Given the description of an element on the screen output the (x, y) to click on. 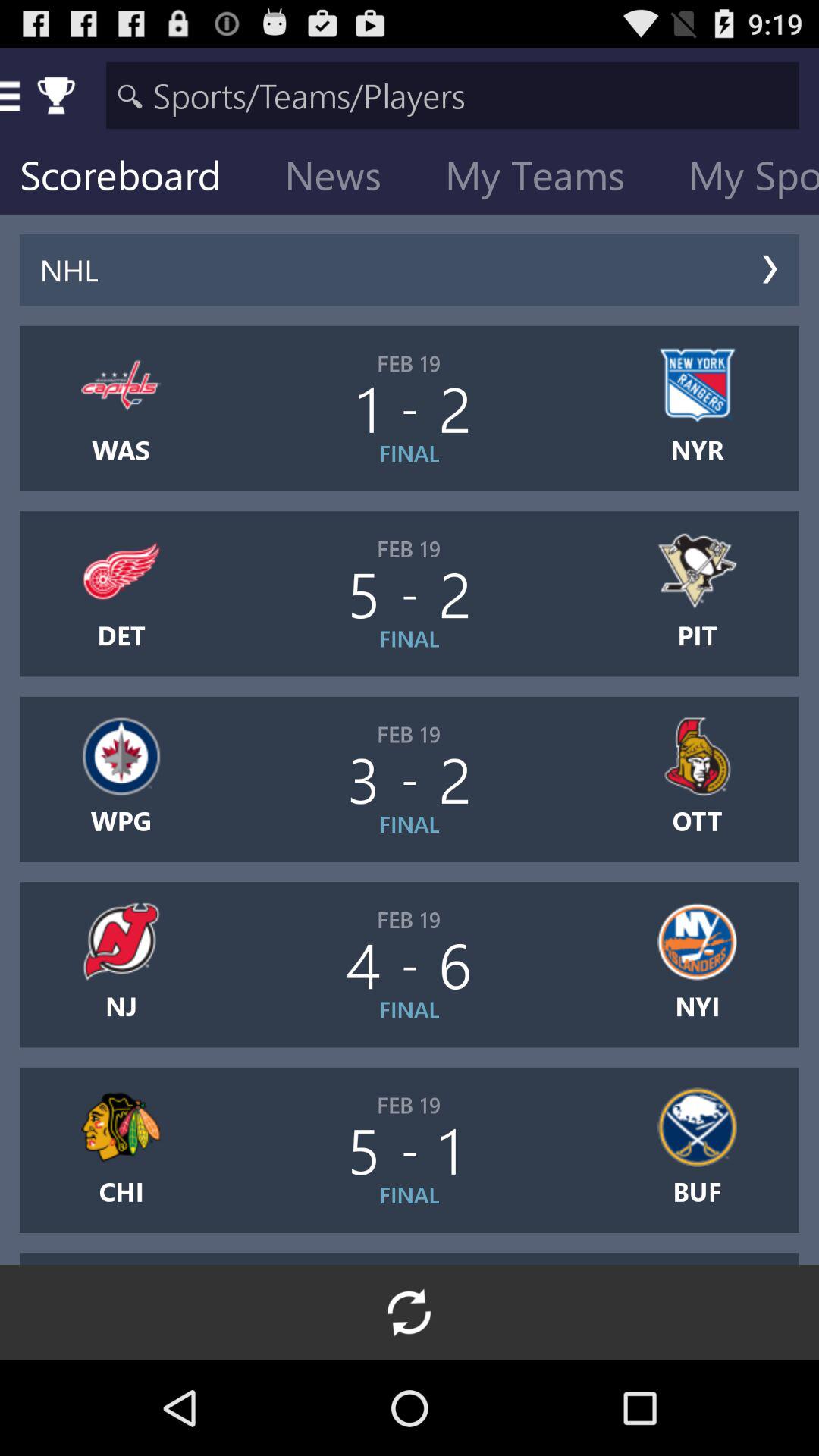
jump until the news icon (345, 178)
